Given the description of an element on the screen output the (x, y) to click on. 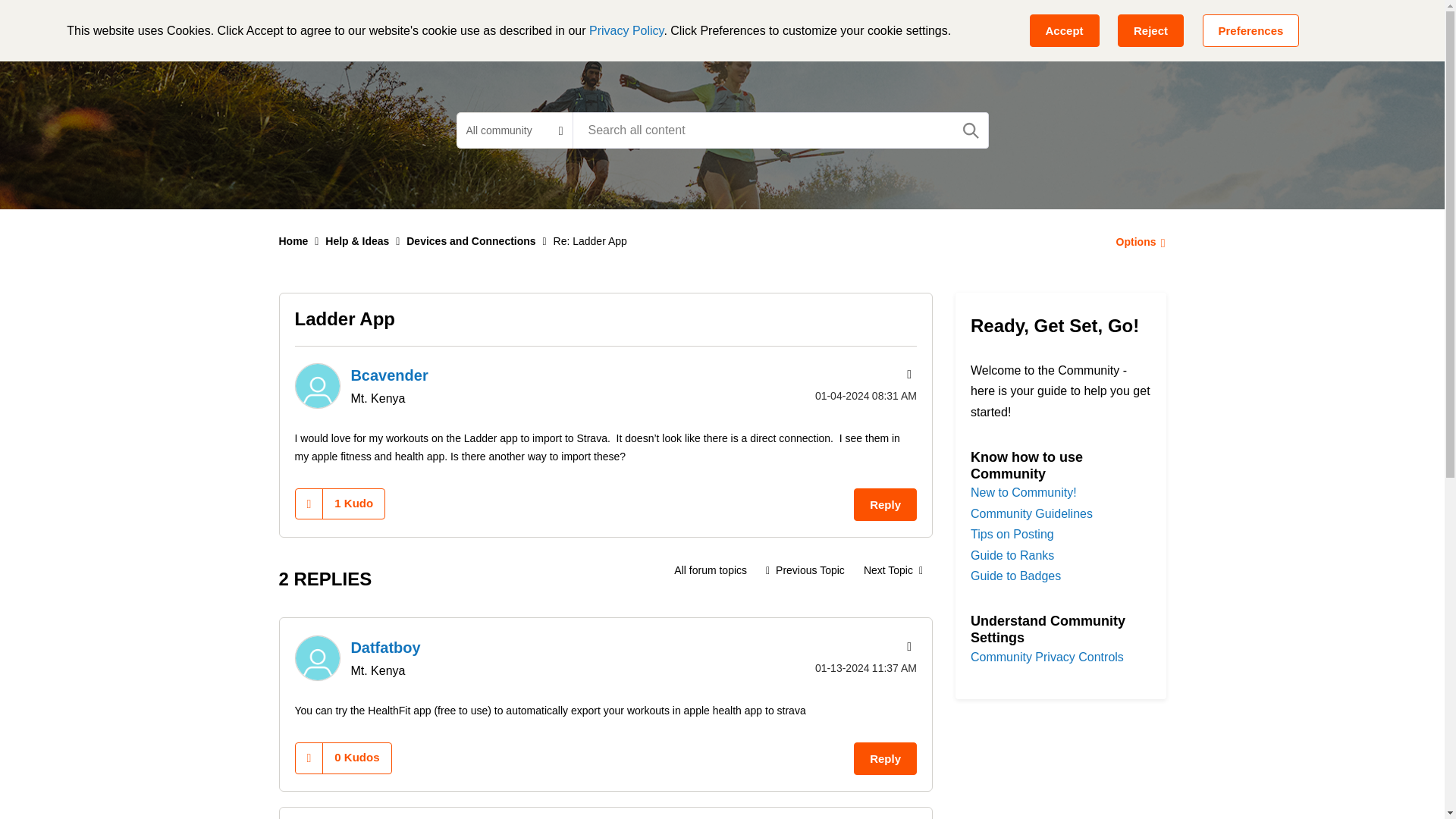
Show option menu (907, 374)
Old activities got data errased (804, 570)
Bcavender (389, 375)
Privacy Policy (626, 30)
Show option menu (1136, 241)
Strava Community Hub (363, 25)
Devices and Connections (710, 570)
Accept (1064, 30)
Reject (1150, 30)
Bcavender (316, 385)
Search (780, 130)
Basecamp (497, 25)
Search (970, 130)
Search Granularity (514, 130)
Click here to see who gave kudos to this post. (353, 502)
